Given the description of an element on the screen output the (x, y) to click on. 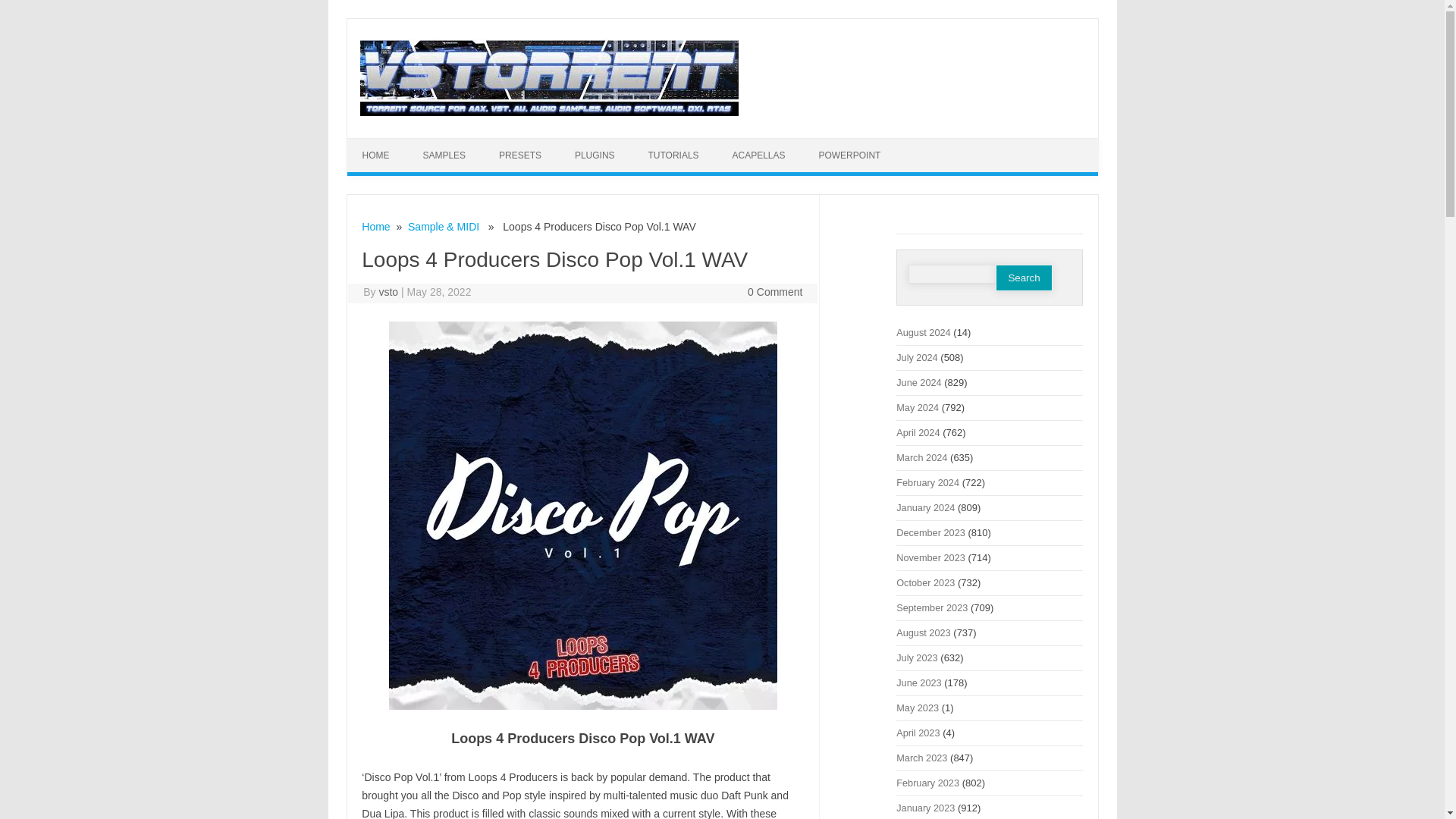
December 2023 (930, 532)
April 2023 (917, 732)
June 2024 (918, 382)
ACAPELLAS (757, 154)
PRESETS (519, 154)
June 2023 (918, 682)
January 2024 (925, 507)
POWERPOINT (849, 154)
November 2023 (930, 557)
VSTorrent (548, 111)
SAMPLES (443, 154)
Skip to content (757, 143)
HOME (375, 154)
Skip to content (757, 143)
0 Comment (775, 291)
